Given the description of an element on the screen output the (x, y) to click on. 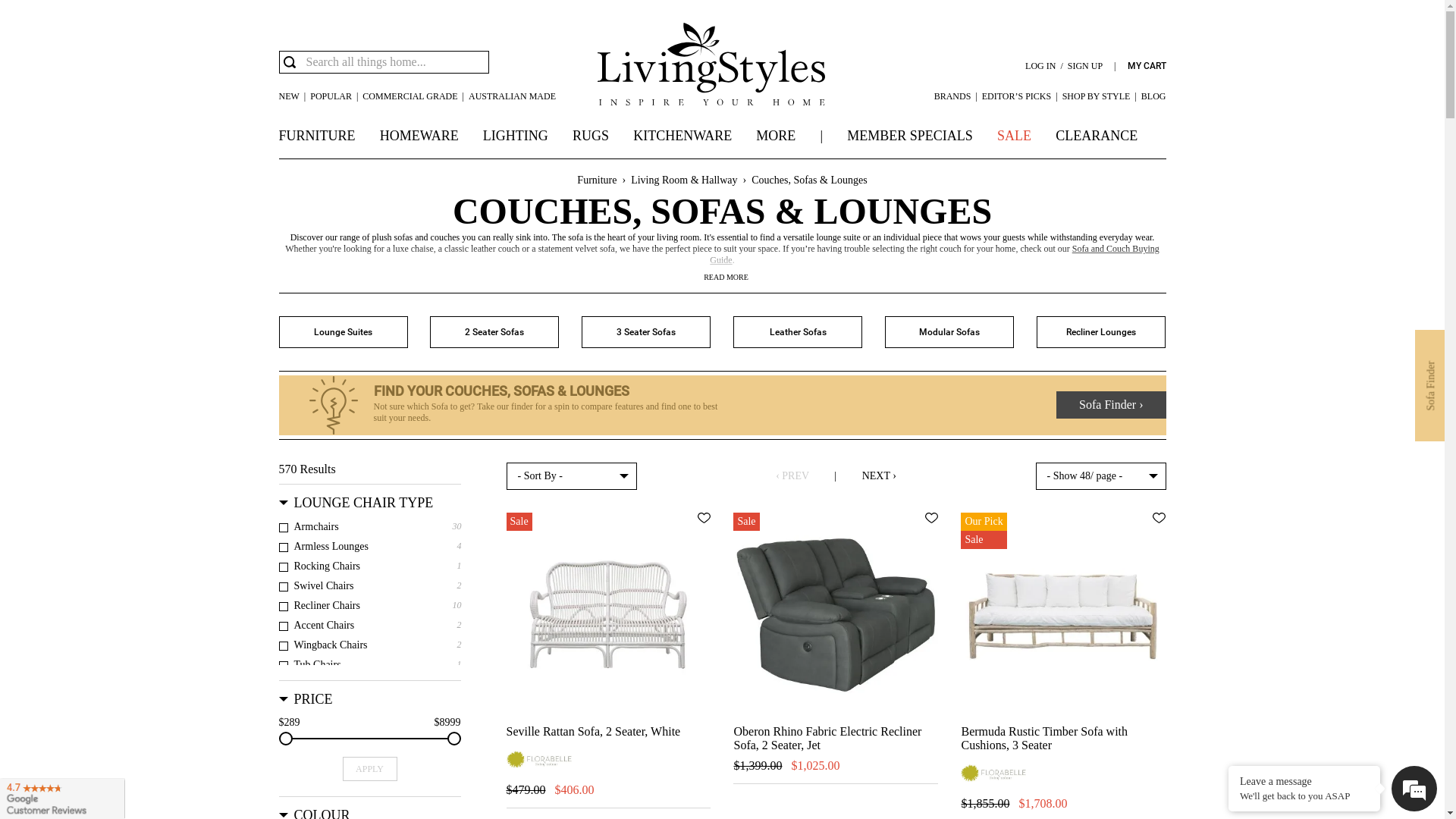
Leather Sofas Element type: text (797, 332)
LOG IN  /  SIGN UP Element type: text (1063, 65)
CLEARANCE Element type: text (1096, 135)
Sale
Seville Rattan Sofa, 2 Seater, White Element type: text (608, 625)
Save to wishlist Element type: hover (1158, 517)
Save to wishlist Element type: hover (931, 517)
SALE Element type: text (1014, 135)
NEW Element type: text (289, 96)
Lounge Suites Element type: text (343, 332)
HOMEWARE Element type: text (418, 135)
Living Room & Hallway Element type: text (683, 179)
POPULAR Element type: text (330, 96)
RUGS Element type: text (590, 135)
Couches, Sofas & Lounges Element type: text (808, 179)
FURNITURE Element type: text (317, 135)
MORE Element type: text (775, 135)
2 Seater Sofas Element type: text (493, 332)
KITCHENWARE Element type: text (682, 135)
Save to wishlist Element type: hover (703, 517)
MY CART Element type: text (1145, 65)
LIGHTING Element type: text (515, 135)
Modular Sofas Element type: text (948, 332)
MEMBER SPECIALS Element type: text (909, 135)
BLOG Element type: text (1153, 96)
Sofa and Couch Buying Guide Element type: text (933, 254)
Furniture Element type: text (596, 179)
BRANDS Element type: text (952, 96)
3 Seater Sofas Element type: text (645, 332)
AUSTRALIAN MADE Element type: text (511, 96)
Recliner Lounges Element type: text (1100, 332)
COMMERCIAL Element type: text (409, 96)
SHOP BY STYLE Element type: text (1096, 96)
